Given the description of an element on the screen output the (x, y) to click on. 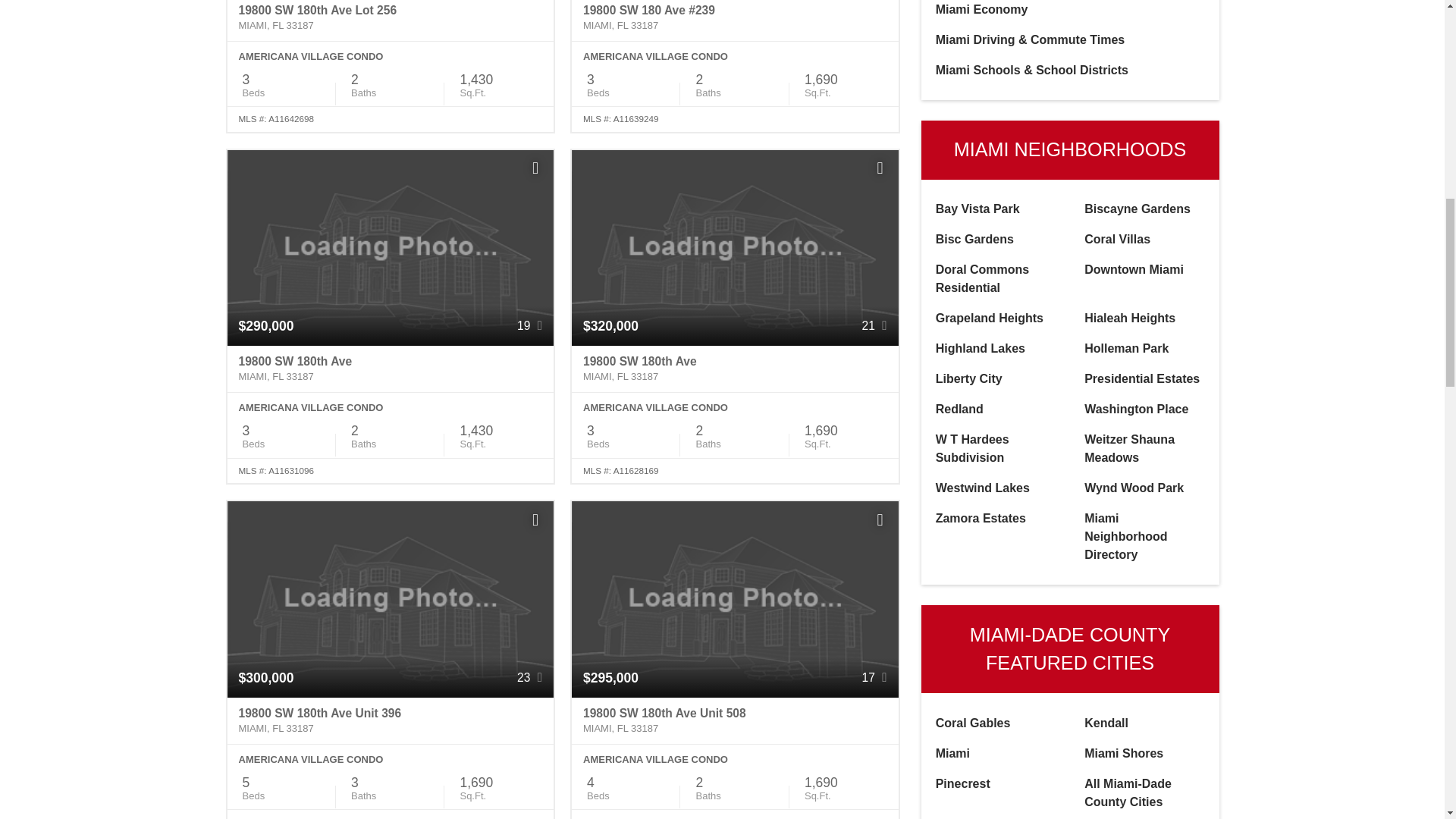
19800 SW 180th Ave Unit 508 Miami,  FL 33187 (735, 720)
19800 SW 180th Ave Miami,  FL 33187 (390, 369)
19800 SW 180th Ave Lot 256 Miami,  FL 33187 (390, 20)
19800 SW 180th Ave Unit 396 Miami,  FL 33187 (390, 720)
19800 SW 180th Ave Miami,  FL 33187 (735, 369)
